Given the description of an element on the screen output the (x, y) to click on. 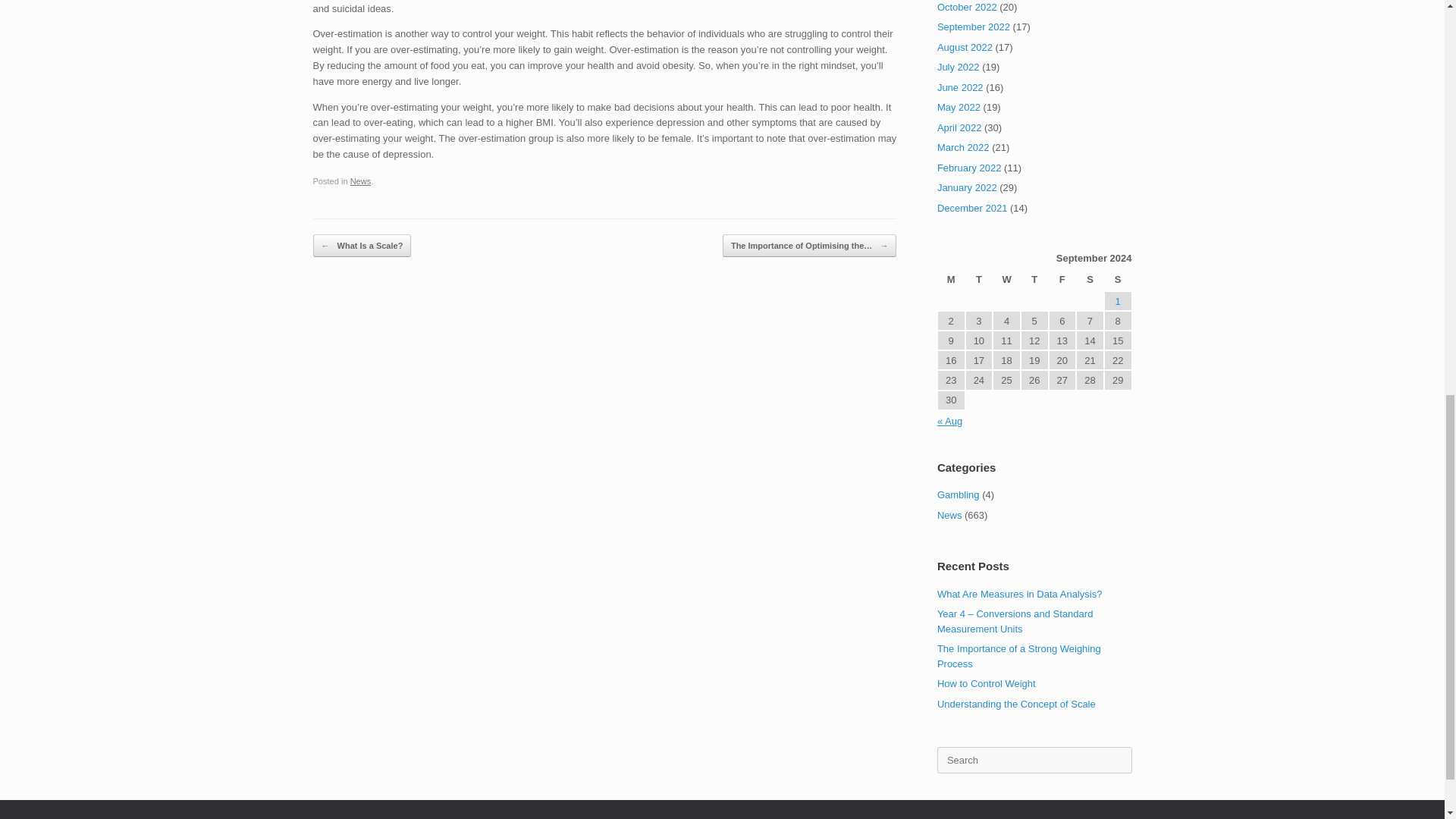
Saturday (1089, 280)
September 2022 (973, 26)
Wednesday (1006, 280)
Sunday (1117, 280)
August 2022 (964, 46)
Monday (951, 280)
News (360, 180)
Friday (1061, 280)
Thursday (1034, 280)
Tuesday (978, 280)
